Given the description of an element on the screen output the (x, y) to click on. 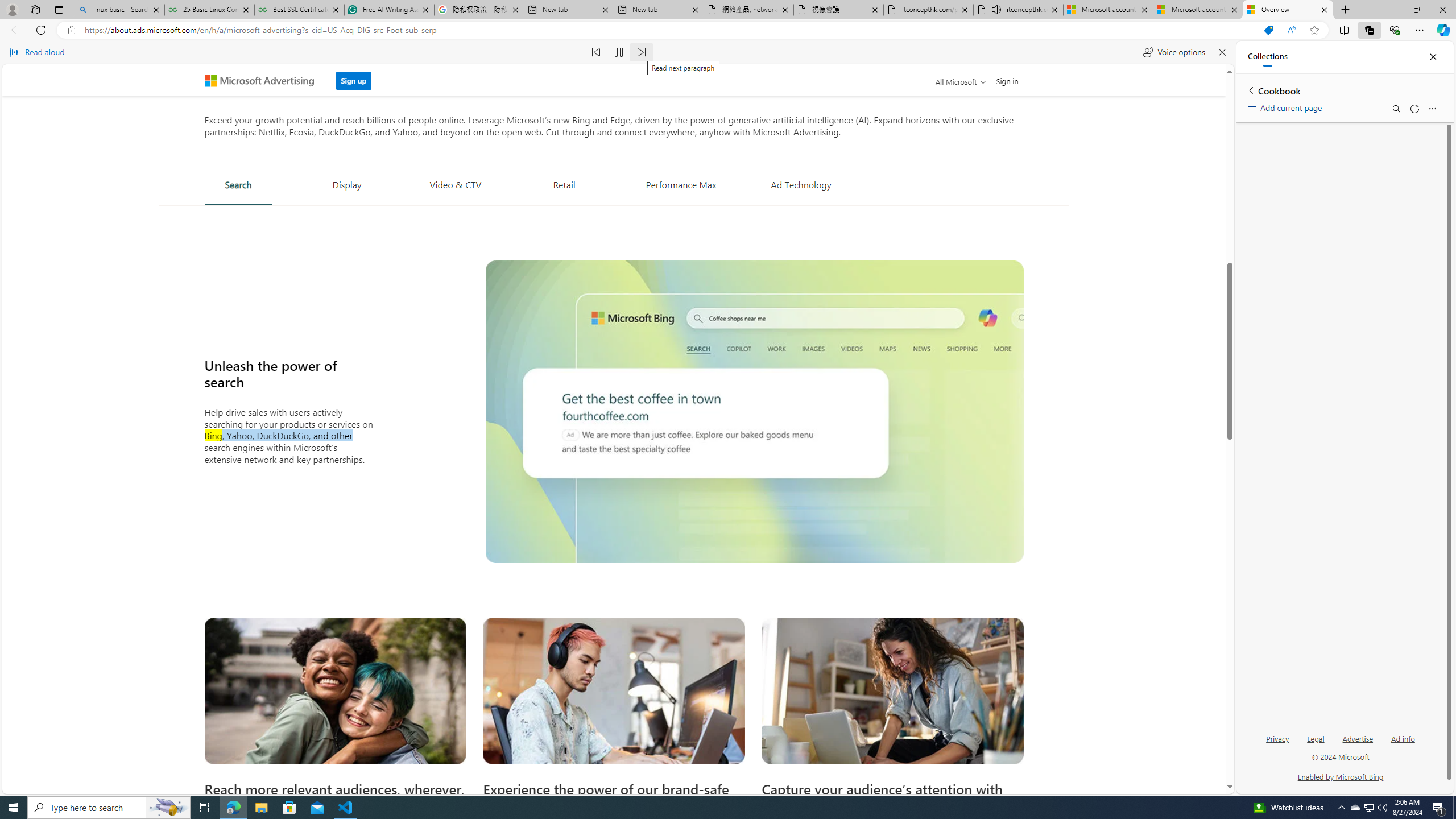
Mute tab (996, 8)
Ad Technology (801, 183)
More options menu (1432, 108)
Read next paragraph (641, 52)
25 Basic Linux Commands For Beginners - GeeksforGeeks (209, 9)
Sign up (353, 76)
